Given the description of an element on the screen output the (x, y) to click on. 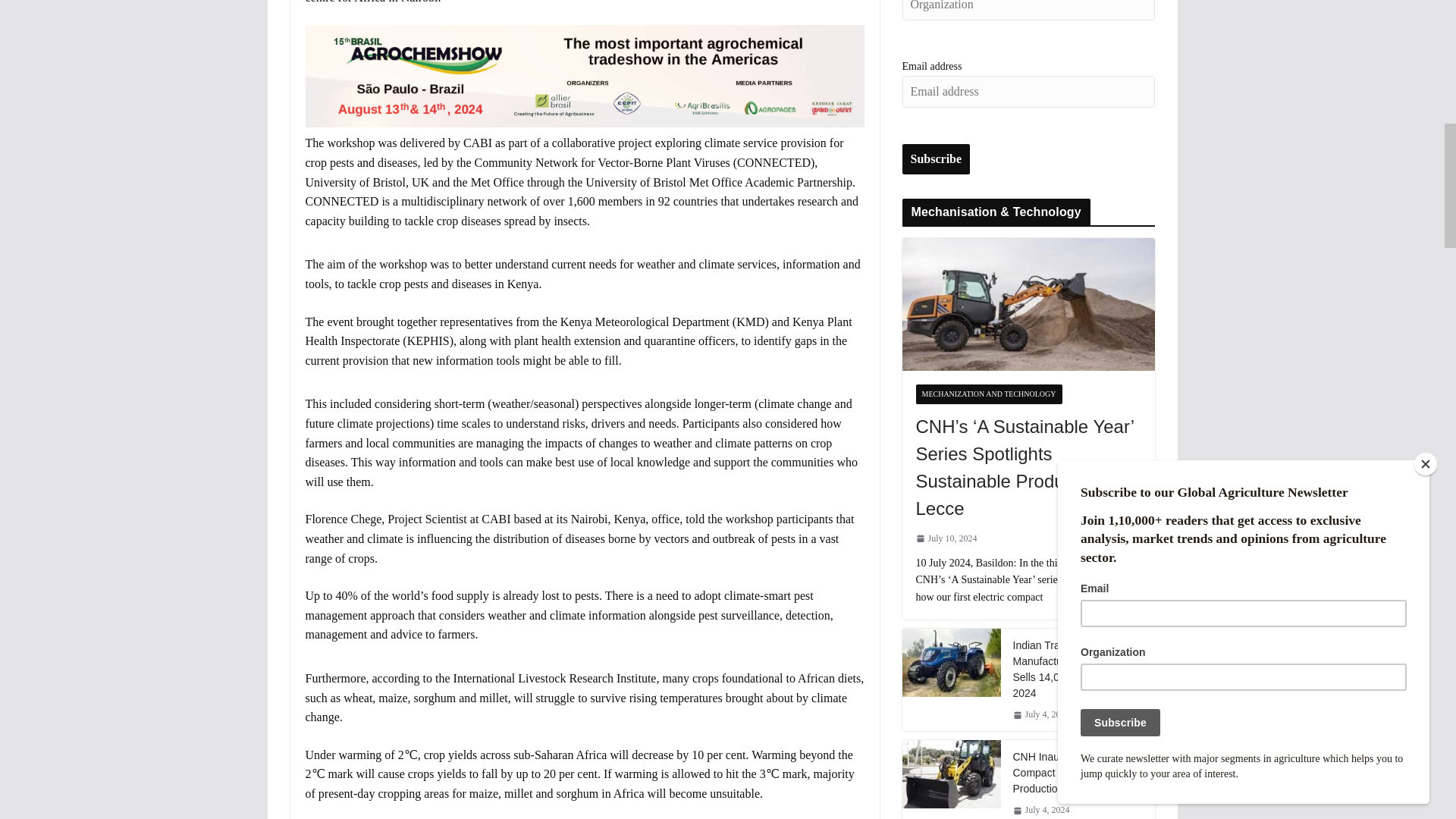
Subscribe (936, 159)
